Given the description of an element on the screen output the (x, y) to click on. 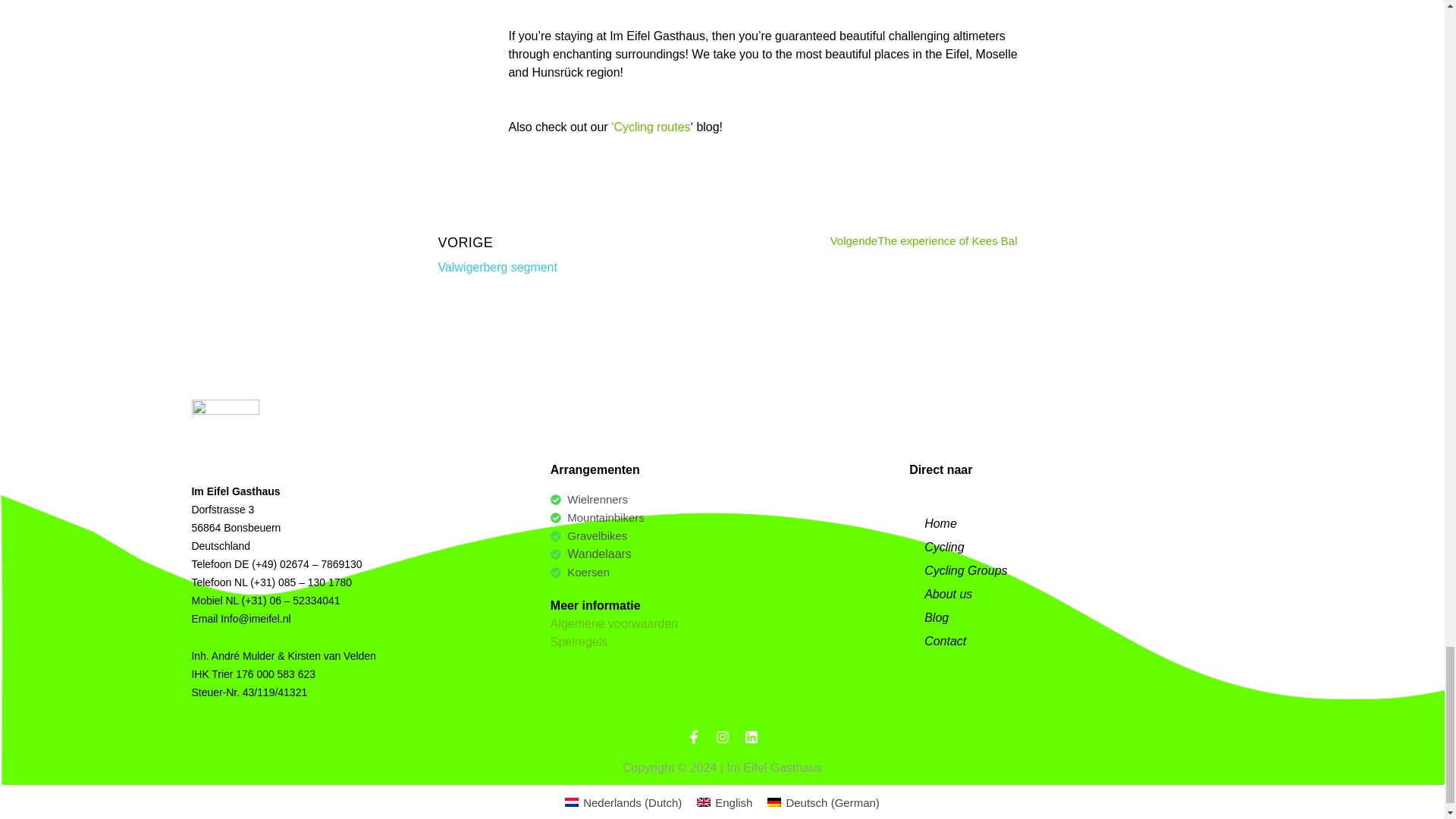
VolgendeThe experience of Kees Bal (869, 240)
Koersen (574, 254)
Gravelbikes (721, 572)
Wielrenners (721, 536)
Mountainbikers (721, 499)
Algemene voorwaarden (721, 517)
